Given the description of an element on the screen output the (x, y) to click on. 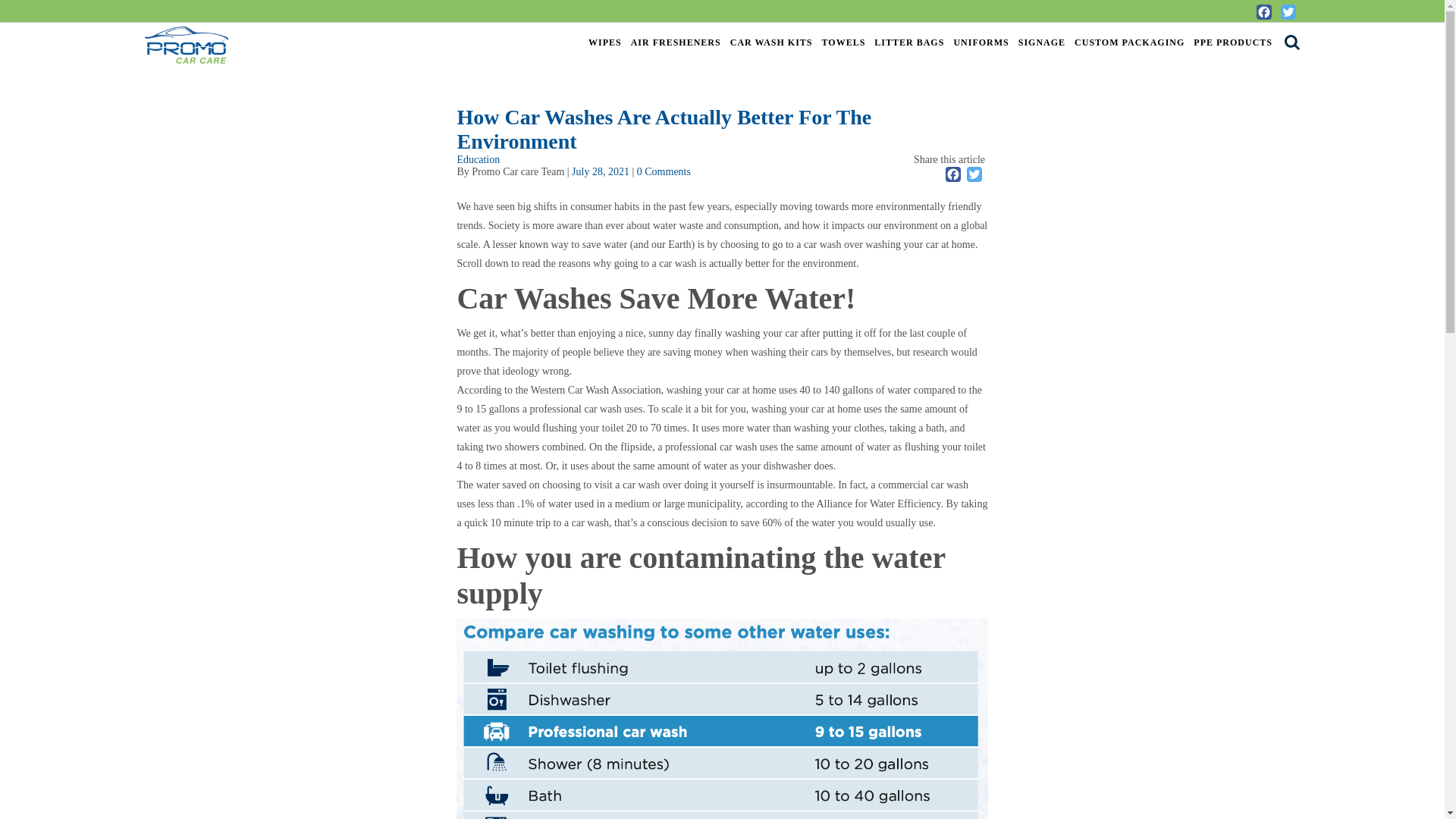
Facebook (952, 174)
Education (478, 159)
How Car Washes Are Actually Better For The Environment (663, 129)
CAR WASH KITS (770, 41)
Facebook (952, 174)
LITTER BAGS (909, 41)
0 Comments (663, 171)
July 28, 2021 (600, 171)
Facebook (1263, 11)
How Car Washes Are Actually Better For The Environment (600, 171)
Twitter (974, 174)
Twitter (1287, 11)
WIPES (604, 41)
UNIFORMS (981, 41)
Twitter (1287, 11)
